Given the description of an element on the screen output the (x, y) to click on. 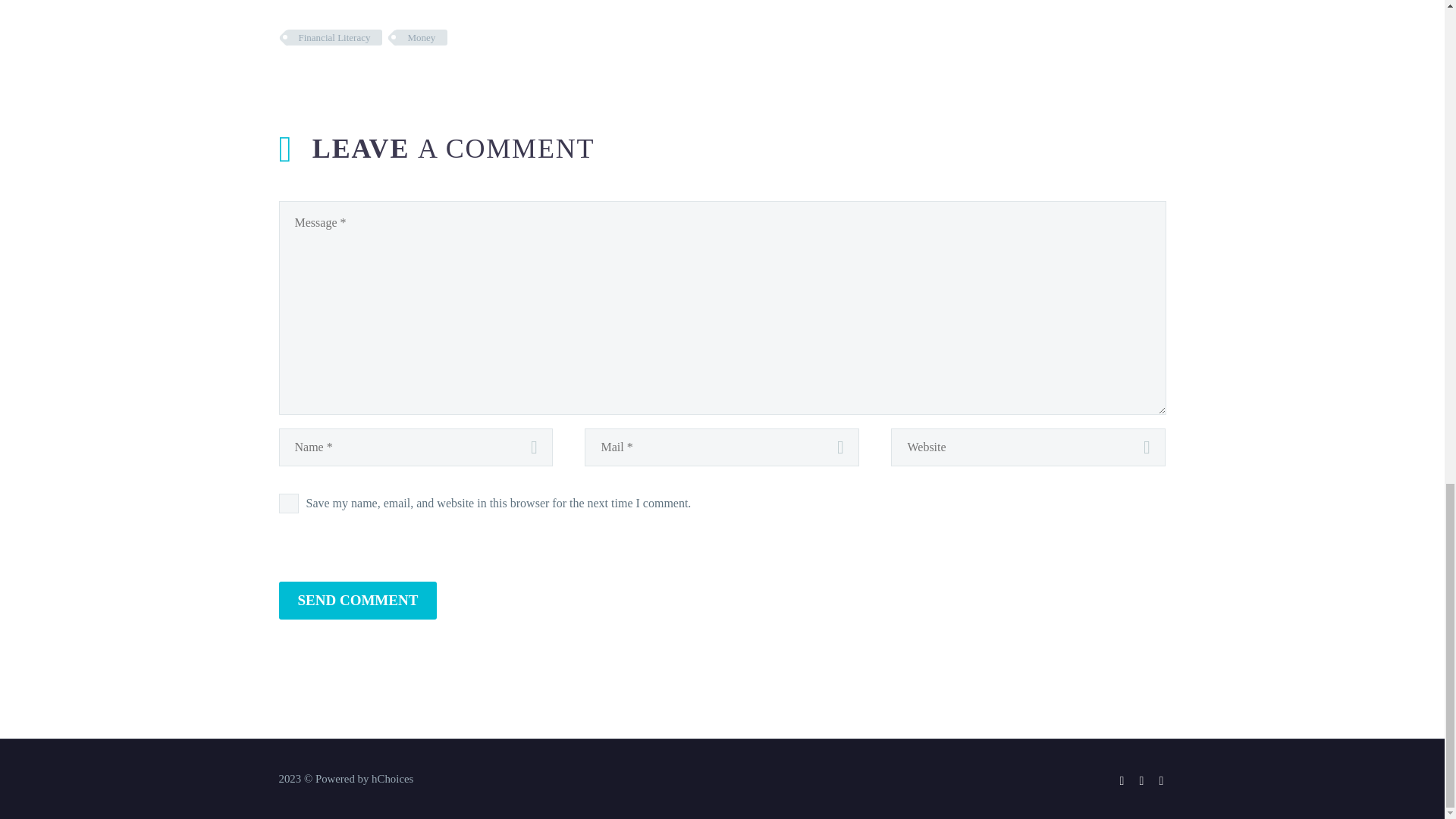
TikTok (1161, 780)
Facebook (1122, 780)
Instagram (1141, 780)
